Given the description of an element on the screen output the (x, y) to click on. 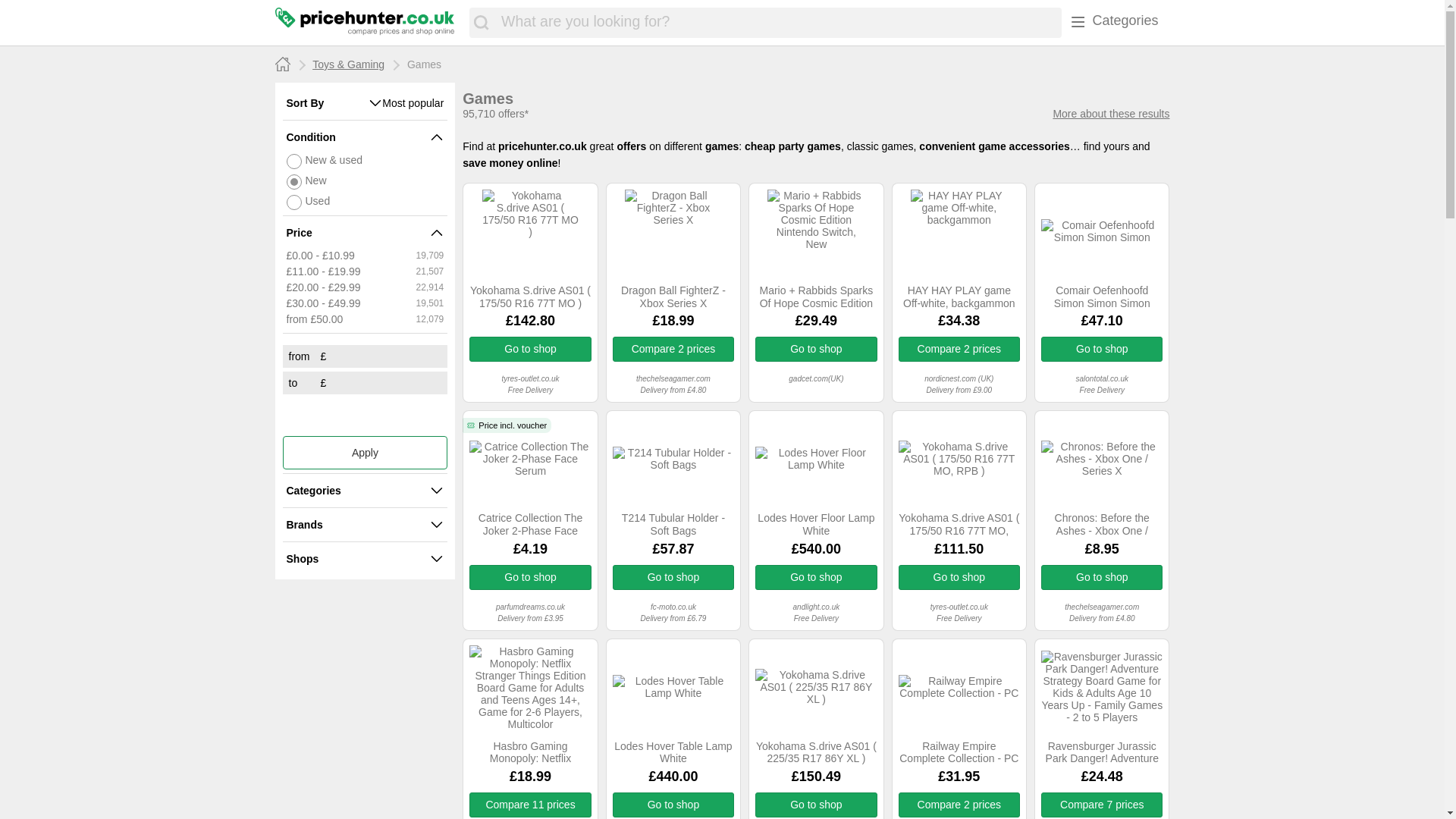
Condition (358, 137)
Comair Oefenhoofd Simon Simon Simon (1101, 297)
Sort by (327, 102)
Catrice Collection The Joker 2-Phase Face Serum (529, 524)
Lodes Hover Floor Lamp White (815, 524)
Dragon Ball FighterZ - Xbox Series X (672, 297)
Brands (358, 524)
Shops (358, 558)
Lodes Hover Table Lamp White (672, 752)
HAY HAY PLAY game Off-white, backgammon (959, 297)
